Given the description of an element on the screen output the (x, y) to click on. 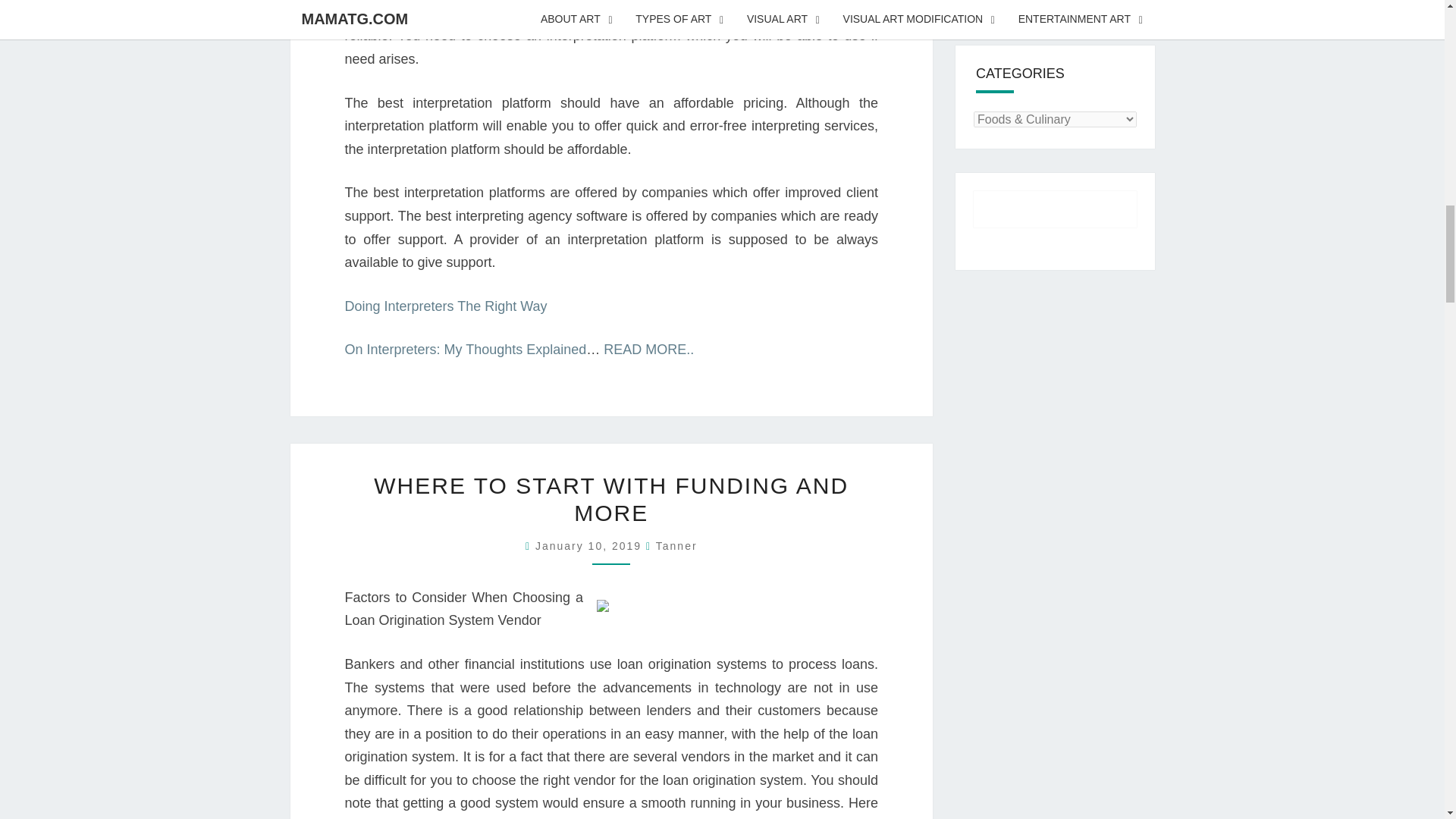
Doing Interpreters The Right Way (445, 305)
View all posts by Tanner (676, 545)
3:28 am (590, 545)
